Given the description of an element on the screen output the (x, y) to click on. 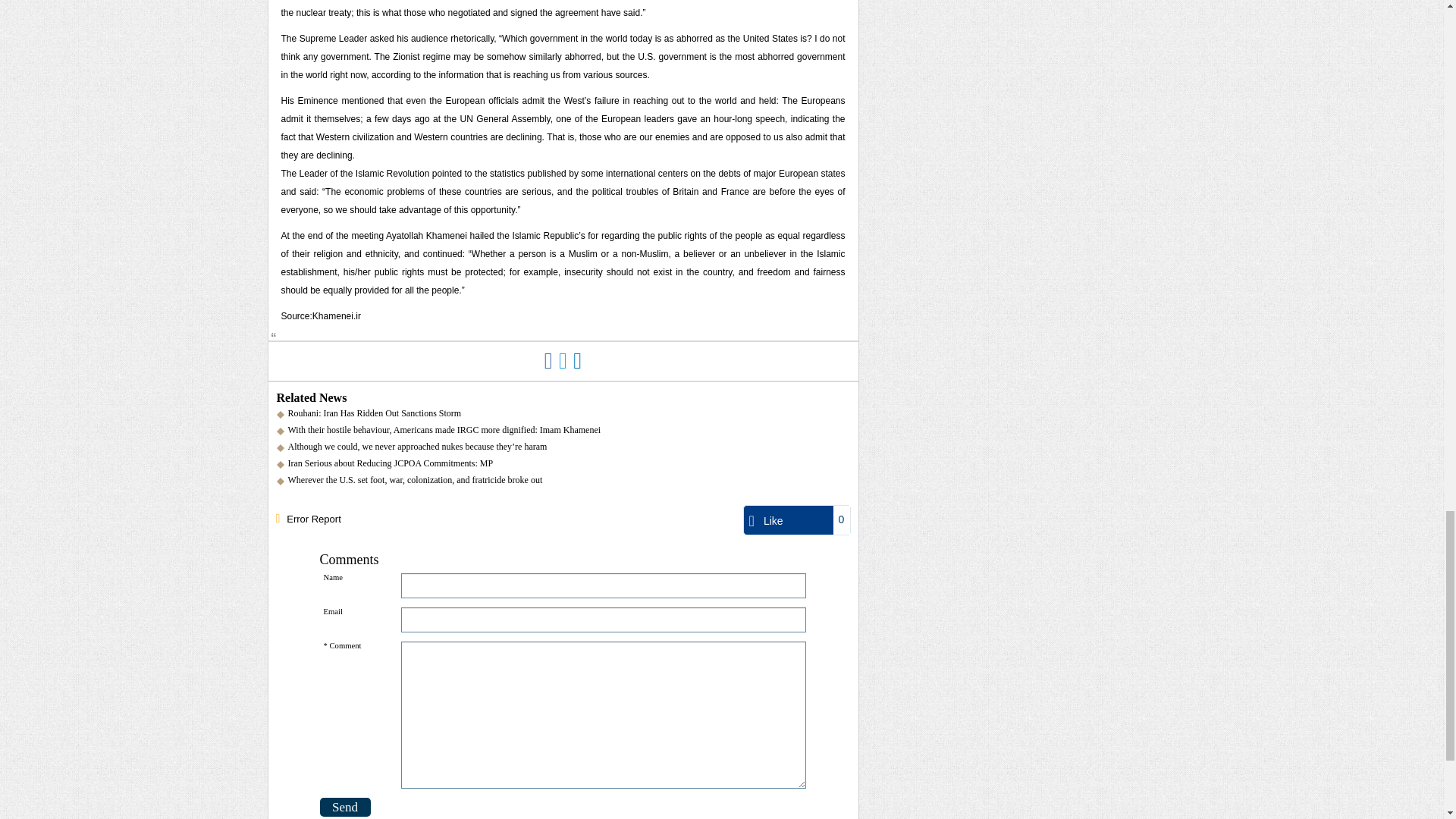
Send (345, 806)
